Given the description of an element on the screen output the (x, y) to click on. 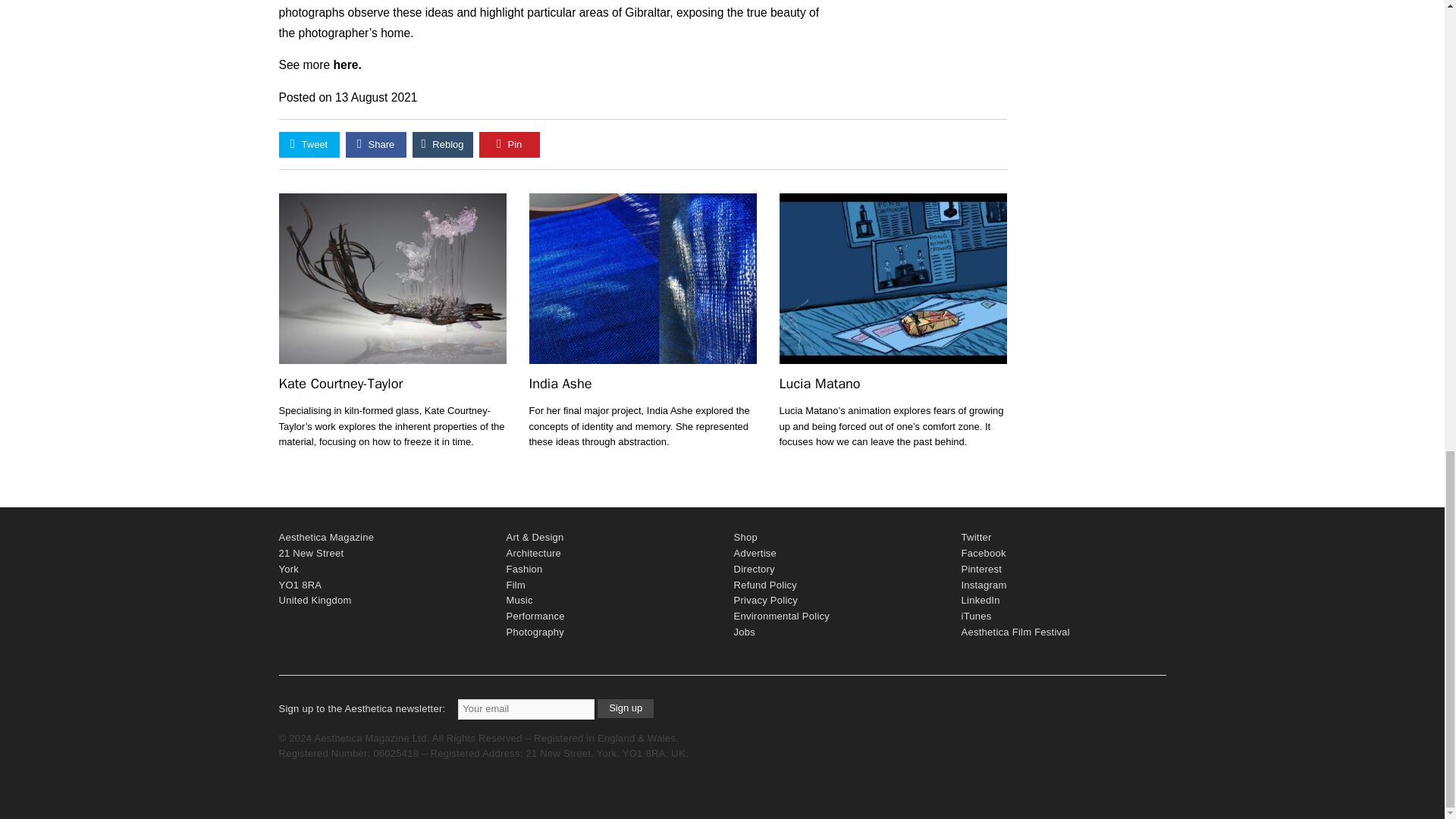
here. (347, 64)
Reblog (442, 144)
Tweet (309, 144)
Pin (509, 144)
Share (376, 144)
